Given the description of an element on the screen output the (x, y) to click on. 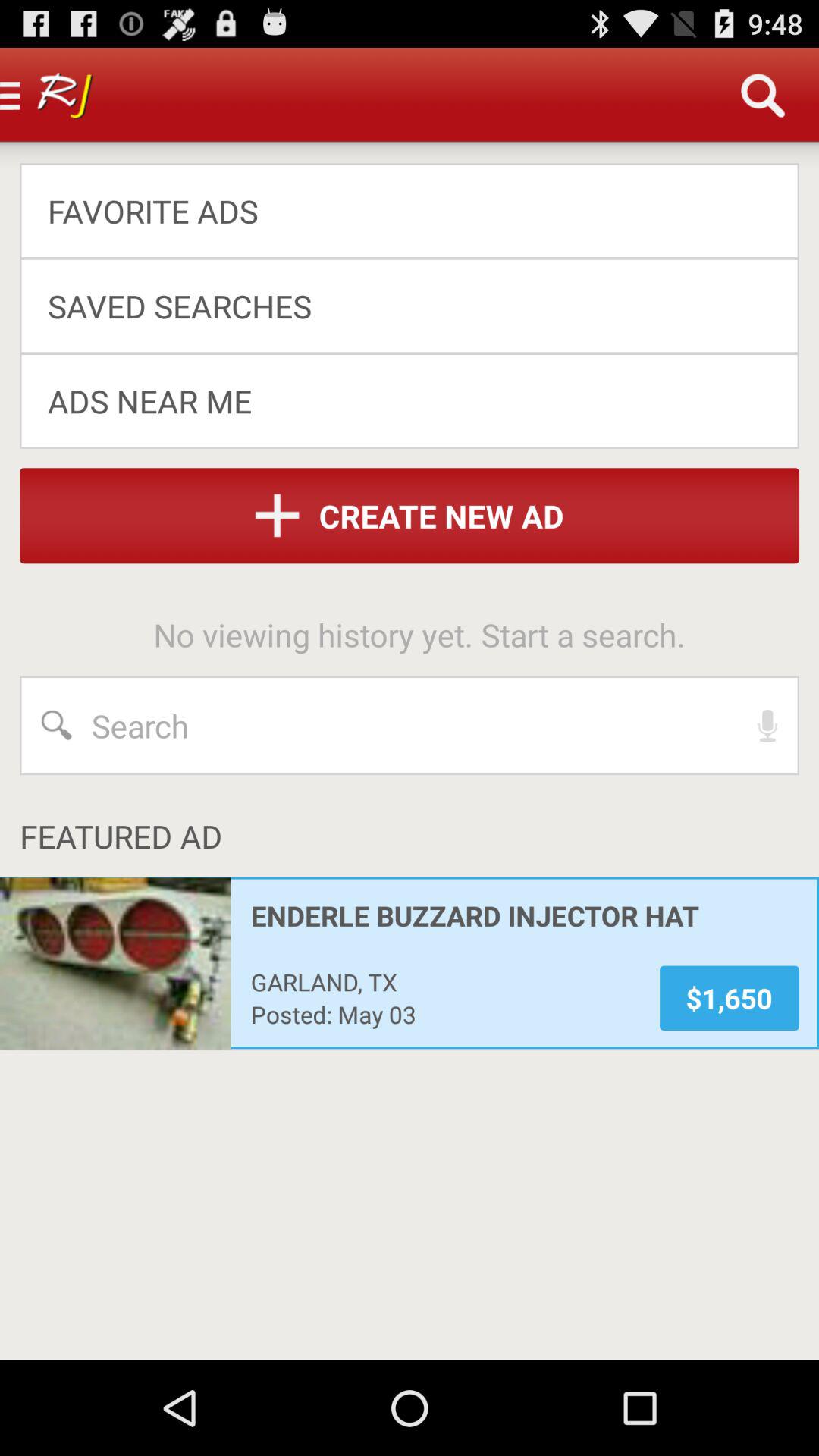
swipe to the favorite ads app (399, 210)
